Given the description of an element on the screen output the (x, y) to click on. 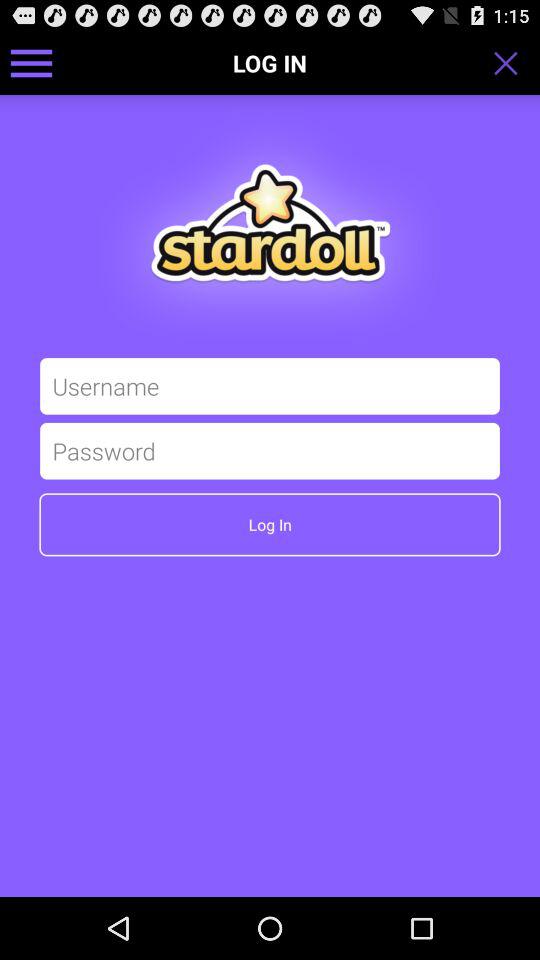
close page (512, 63)
